Given the description of an element on the screen output the (x, y) to click on. 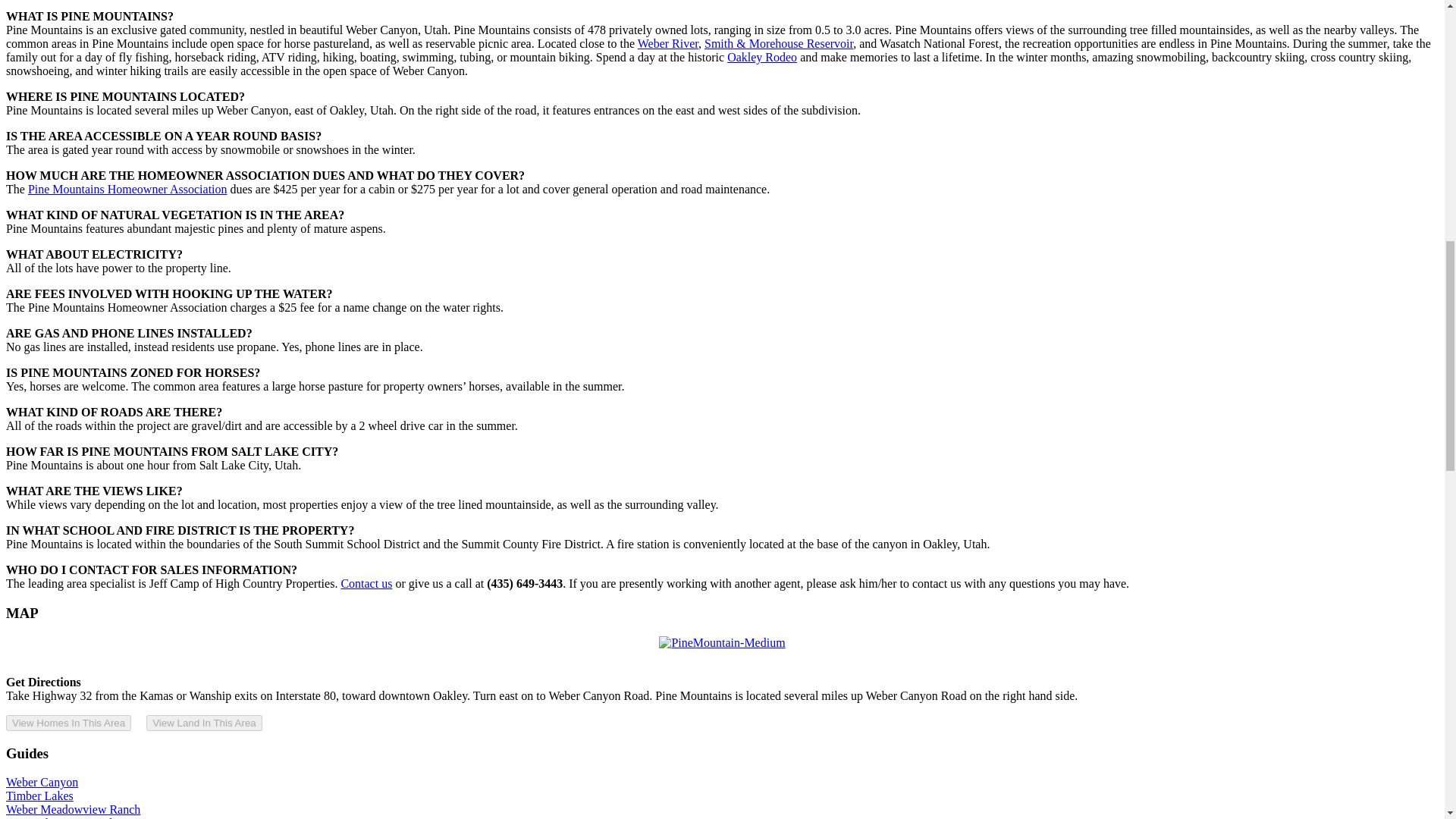
Timber Lakes (39, 795)
Weber Meadowview Ranch (72, 809)
Pine and Forest Meadows (68, 817)
Weber Canyon (41, 781)
